Given the description of an element on the screen output the (x, y) to click on. 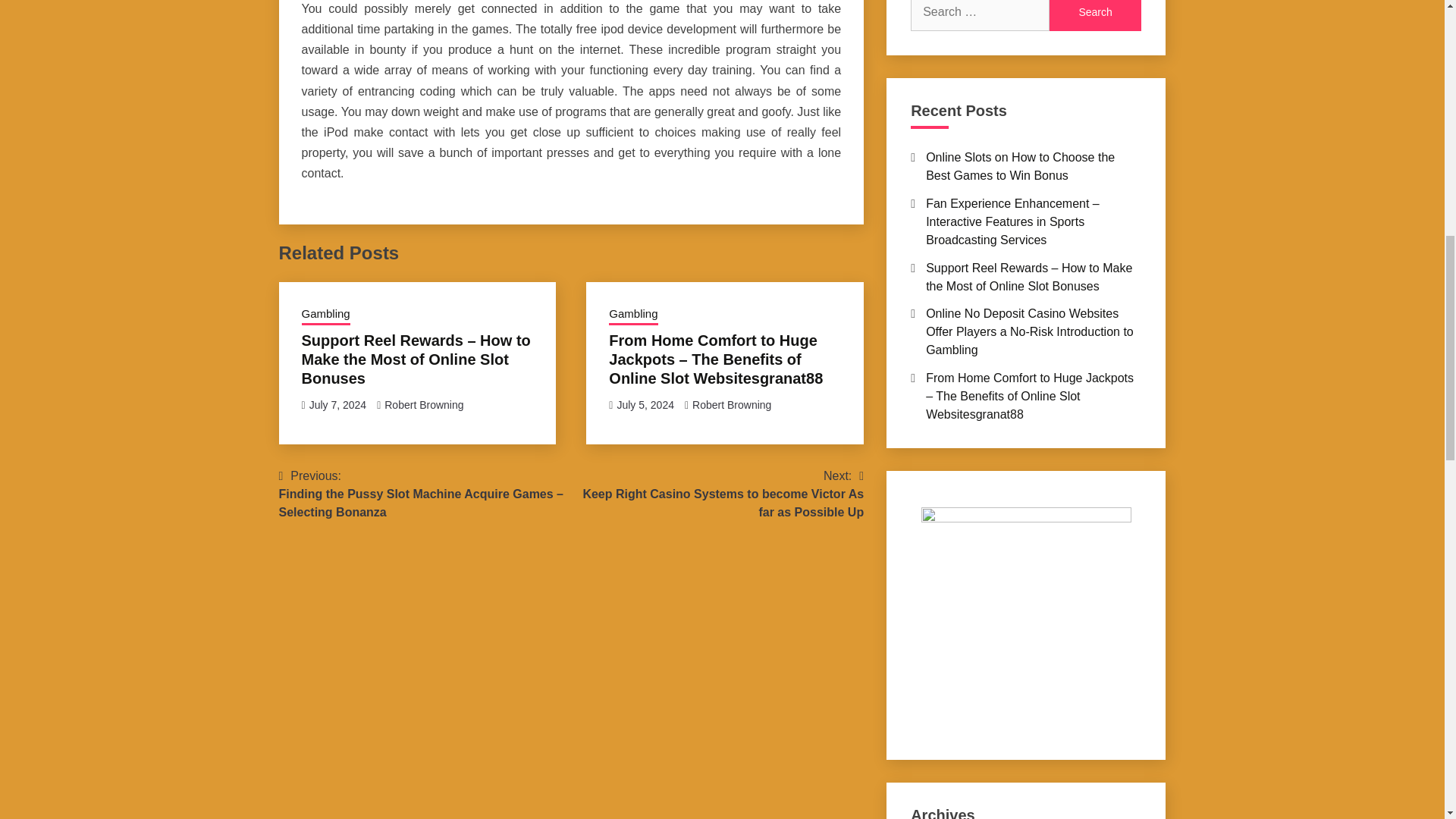
Search (1095, 15)
Search (1095, 15)
July 5, 2024 (644, 404)
Gambling (633, 315)
Online Slots on How to Choose the Best Games to Win Bonus (1020, 165)
Robert Browning (732, 404)
Robert Browning (423, 404)
Gambling (325, 315)
Search (1095, 15)
July 7, 2024 (337, 404)
